Given the description of an element on the screen output the (x, y) to click on. 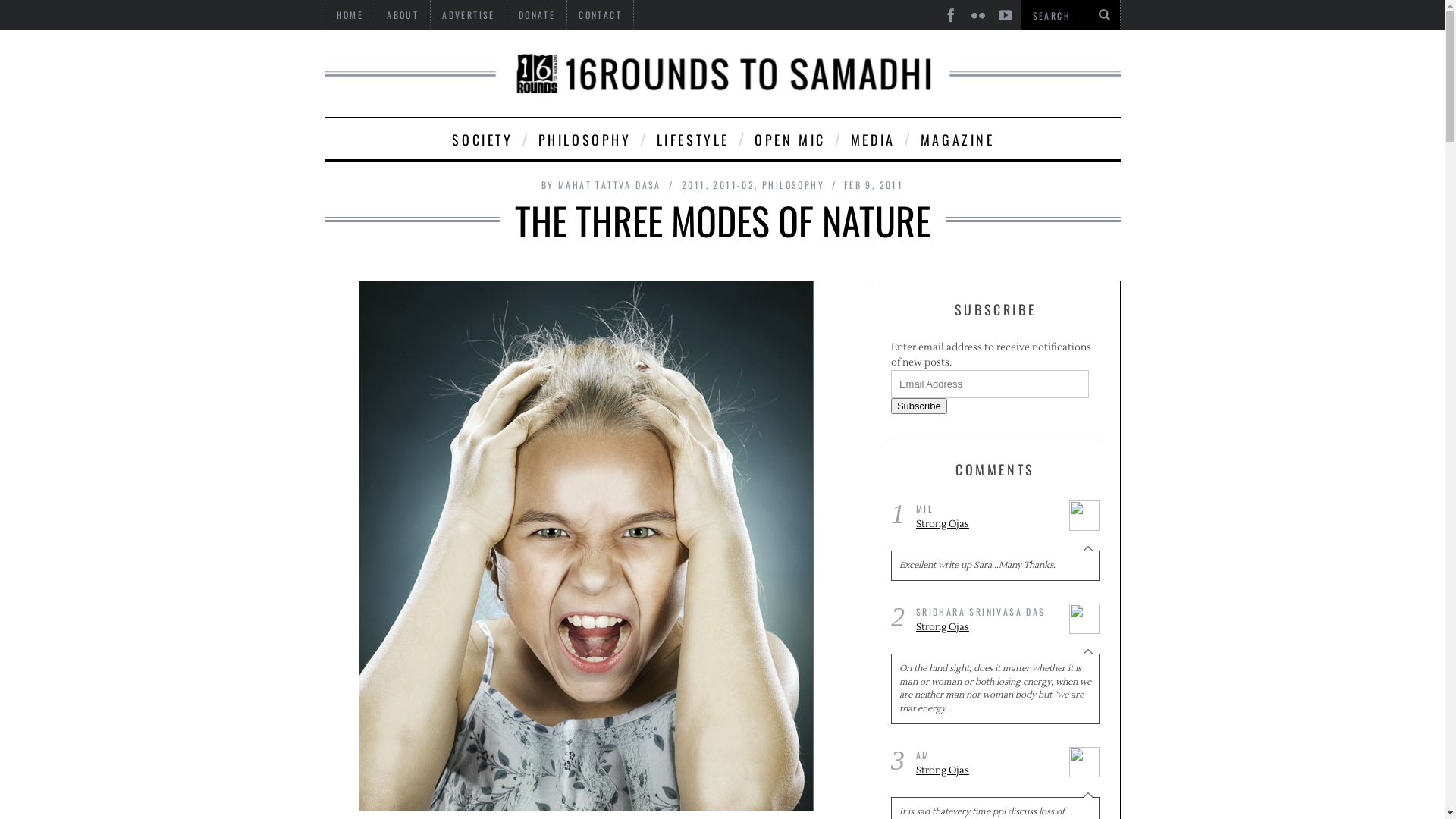
2011 Element type: text (693, 184)
MEDIA Element type: text (871, 138)
PHILOSOPHY Element type: text (583, 138)
Strong Ojas Element type: text (986, 524)
16 ROUNDS to Samadhi magazine -  Element type: hover (722, 73)
MAHAT TATTVA DASA Element type: text (609, 184)
Subscribe Element type: text (919, 406)
Strong Ojas Element type: text (986, 770)
PHILOSOPHY Element type: text (793, 184)
LIFESTYLE Element type: text (691, 138)
Strong Ojas Element type: text (986, 627)
OPEN MIC Element type: text (788, 138)
MAGAZINE Element type: text (956, 138)
SOCIETY Element type: text (480, 138)
2011-02 Element type: text (733, 184)
